Given the description of an element on the screen output the (x, y) to click on. 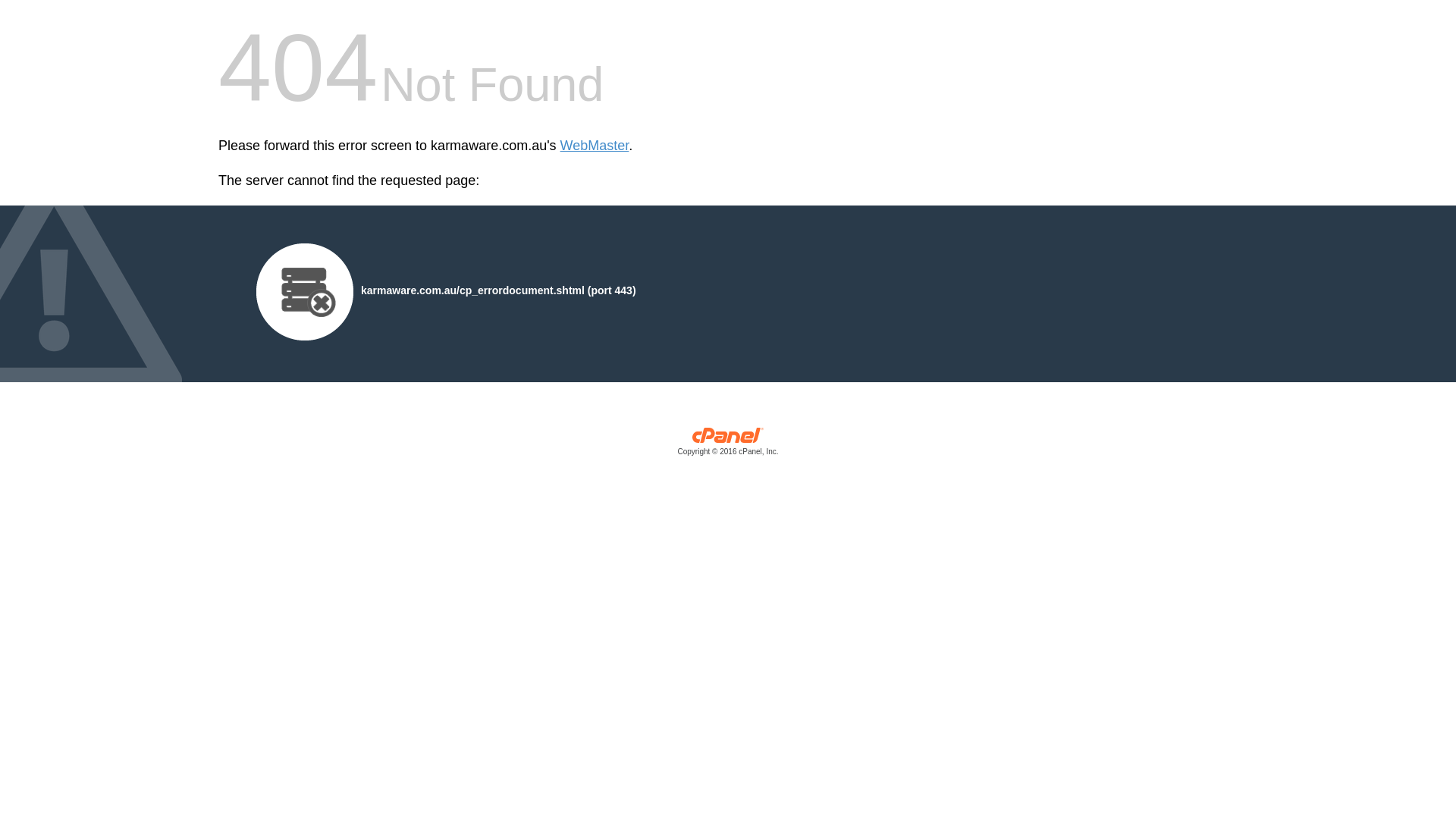
WebMaster Element type: text (594, 145)
